Given the description of an element on the screen output the (x, y) to click on. 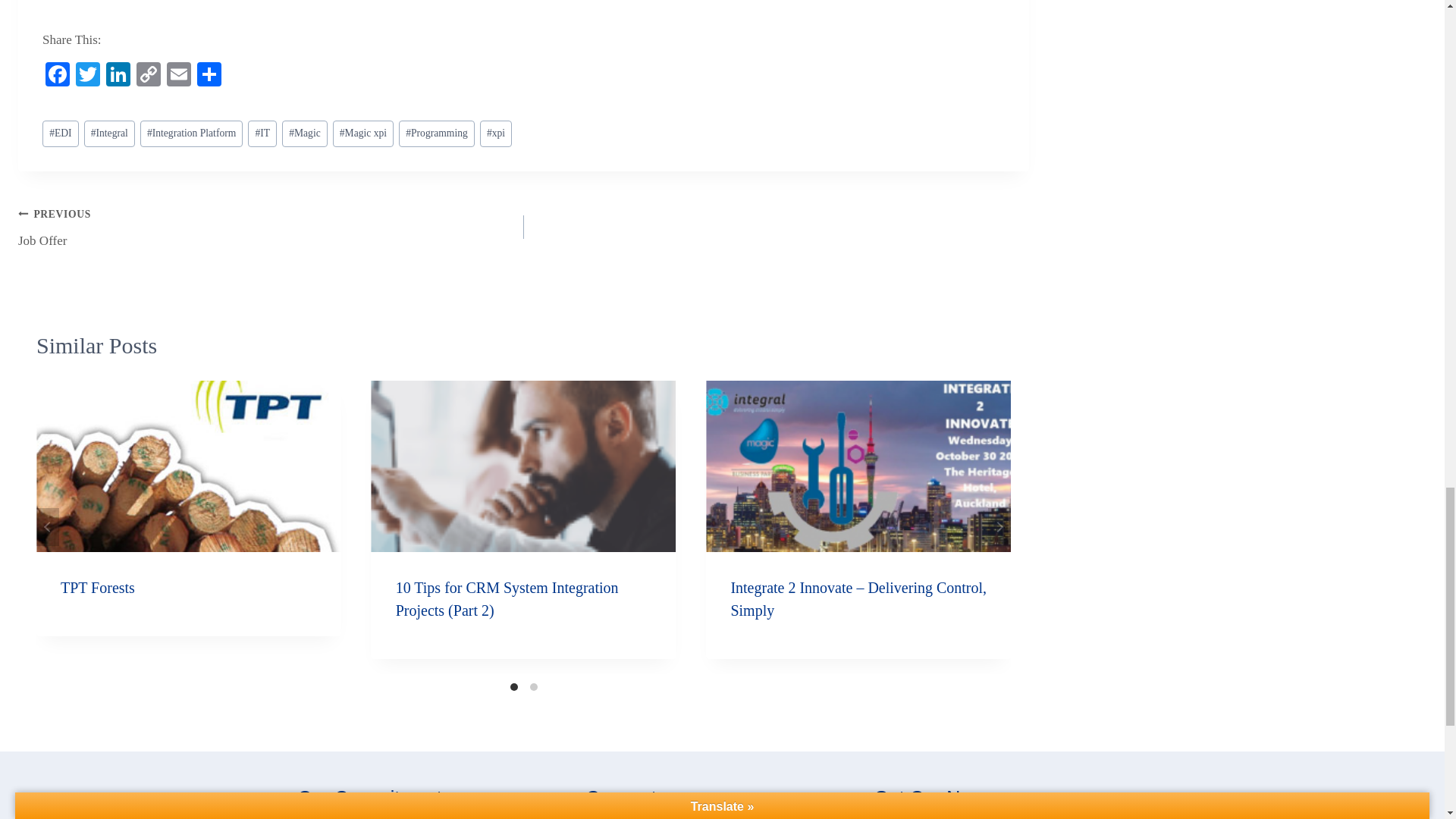
EDI (60, 133)
Facebook (57, 76)
Magic (304, 133)
Integration Platform (191, 133)
Copy Link (148, 76)
LinkedIn (118, 76)
IT (261, 133)
Email (178, 76)
Programming (436, 133)
Magic xpi (363, 133)
Twitter (87, 76)
Integral (109, 133)
